Given the description of an element on the screen output the (x, y) to click on. 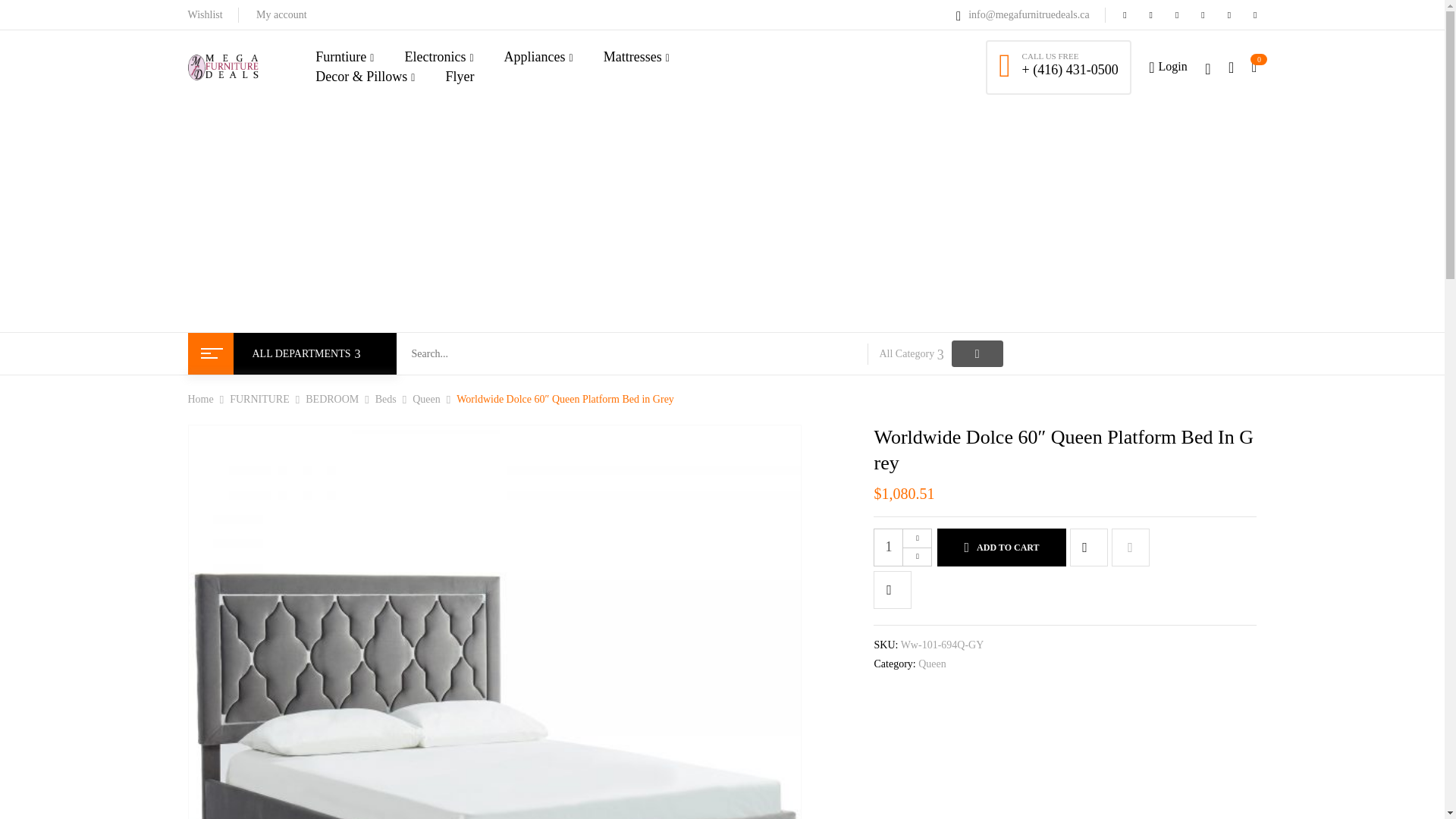
View your shopping cart (1254, 66)
My account (280, 14)
Furntiure (344, 57)
Wishlist (204, 14)
1 (903, 547)
